Given the description of an element on the screen output the (x, y) to click on. 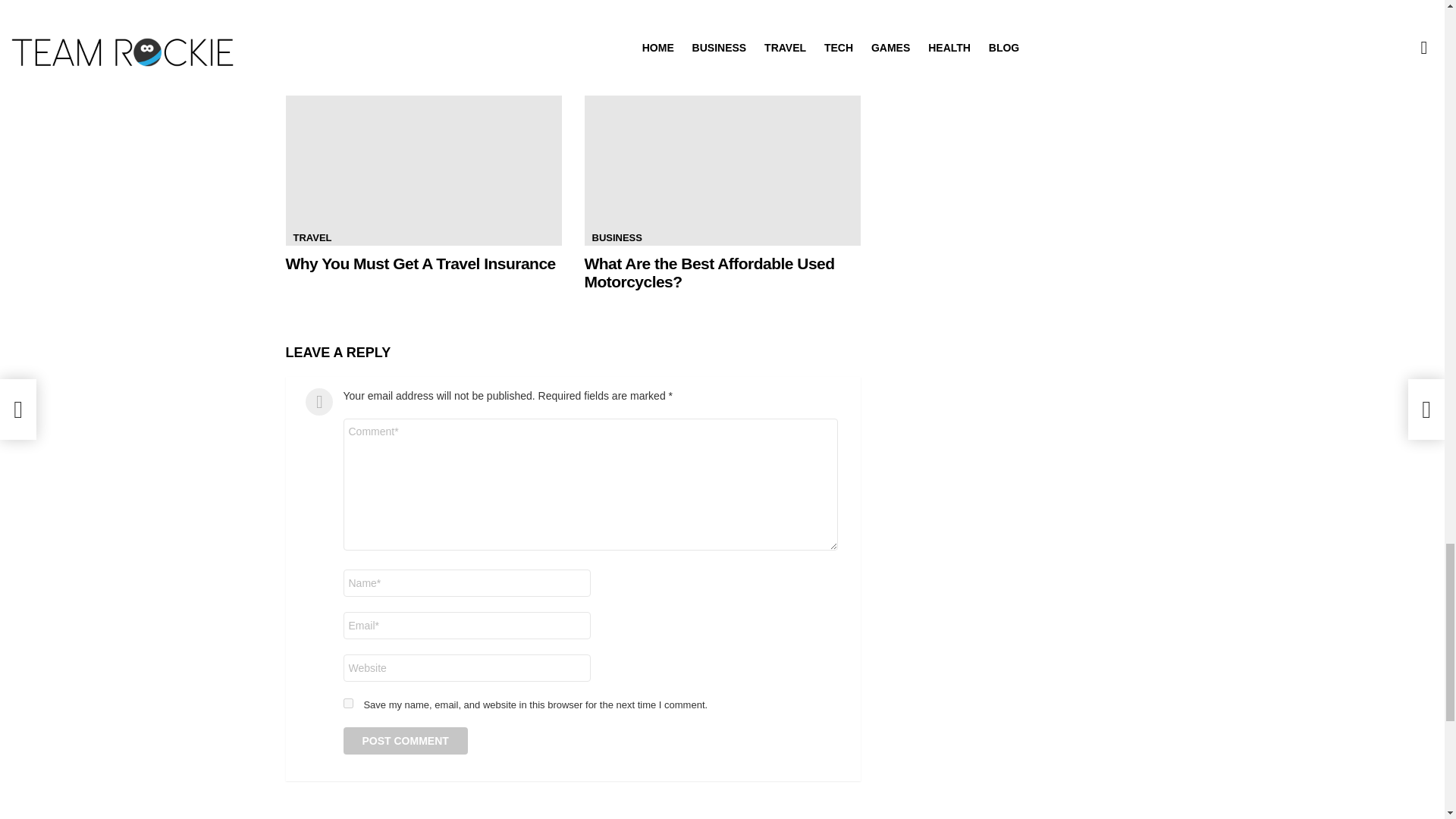
yes (347, 703)
Why You Must Get A Travel Insurance (422, 167)
Why You Must Get A Travel Insurance (419, 262)
TECH (604, 2)
TRAVEL (312, 237)
Post Comment (404, 740)
What Are the Best Affordable Used Motorcycles? (721, 167)
TECH (305, 2)
